Given the description of an element on the screen output the (x, y) to click on. 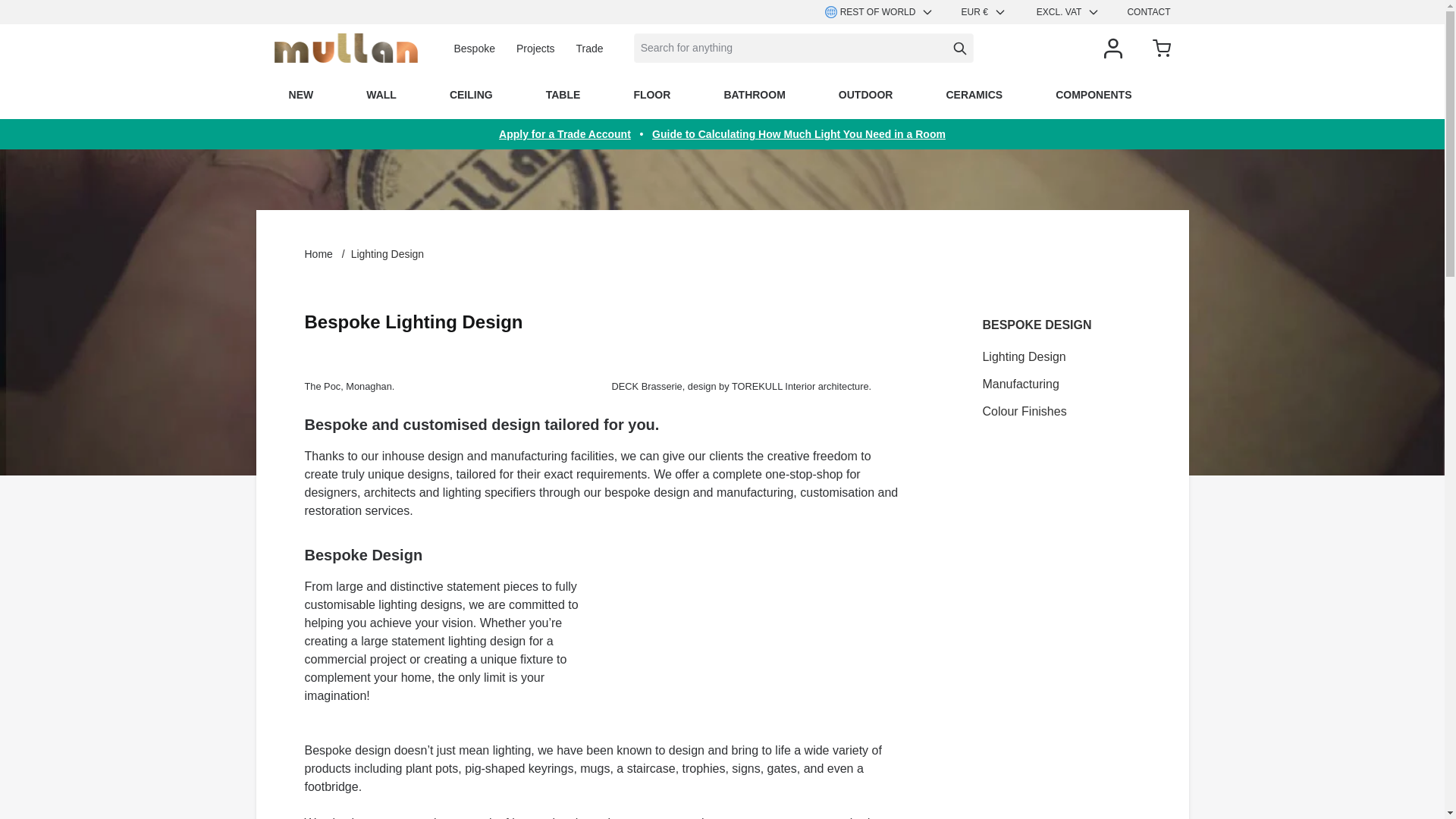
REST OF WORLD (877, 12)
Cart (1161, 48)
EXCL. VAT (1071, 12)
Projects (535, 48)
CONTACT (1148, 11)
Bespoke (473, 48)
Trade (590, 48)
Go to Home Page (318, 254)
